Given the description of an element on the screen output the (x, y) to click on. 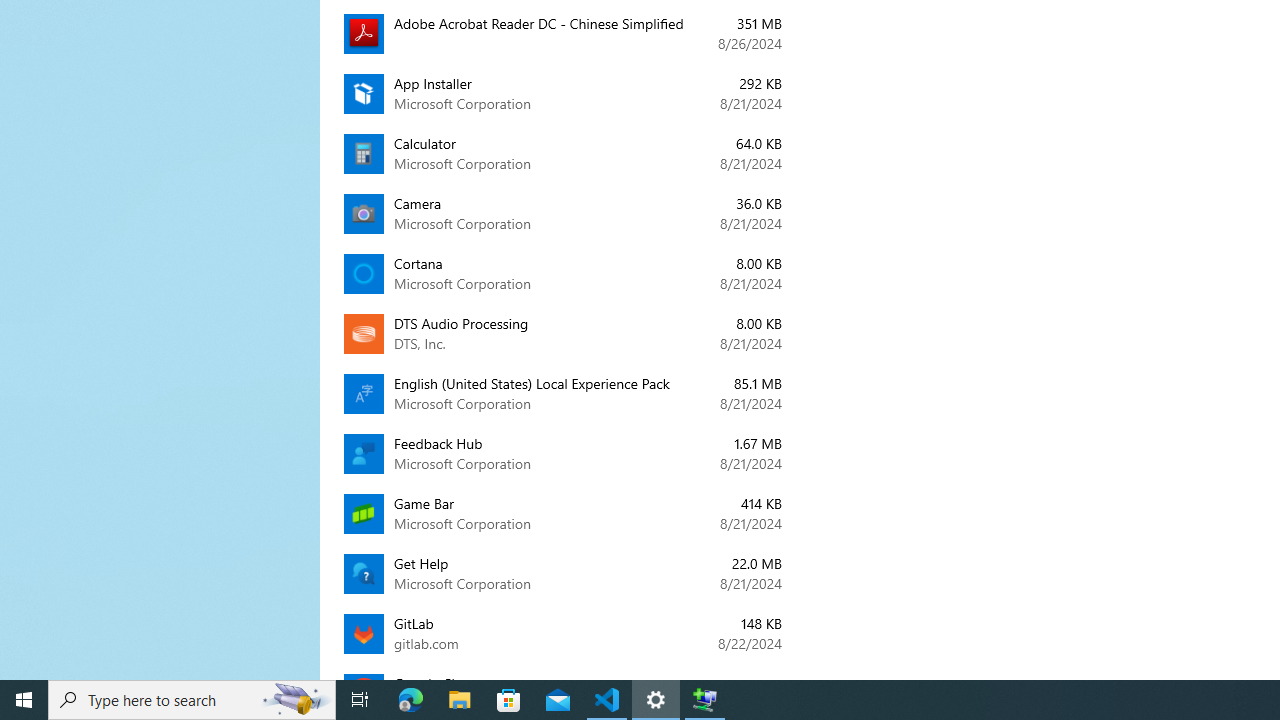
Settings - 1 running window (656, 699)
Start (24, 699)
Microsoft Store (509, 699)
